Given the description of an element on the screen output the (x, y) to click on. 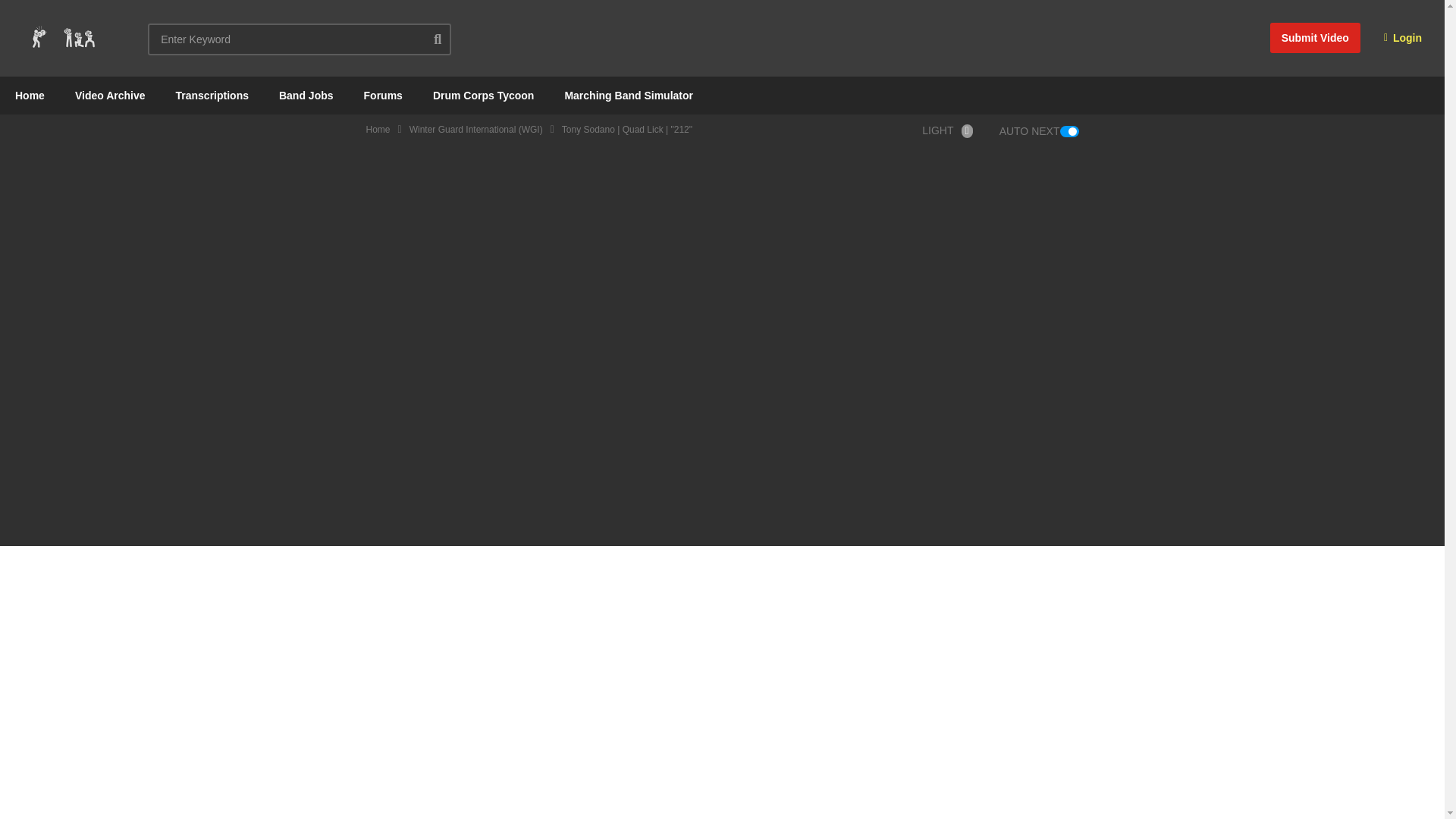
Marching Band Simulator (627, 95)
Forums (383, 95)
Transcriptions (211, 95)
Drum Corps Tycoon (483, 95)
Band Jobs (306, 95)
LIGHT (950, 130)
LotHype.com (62, 37)
Home (29, 95)
 Login (1402, 38)
Video Archive (109, 95)
